Given the description of an element on the screen output the (x, y) to click on. 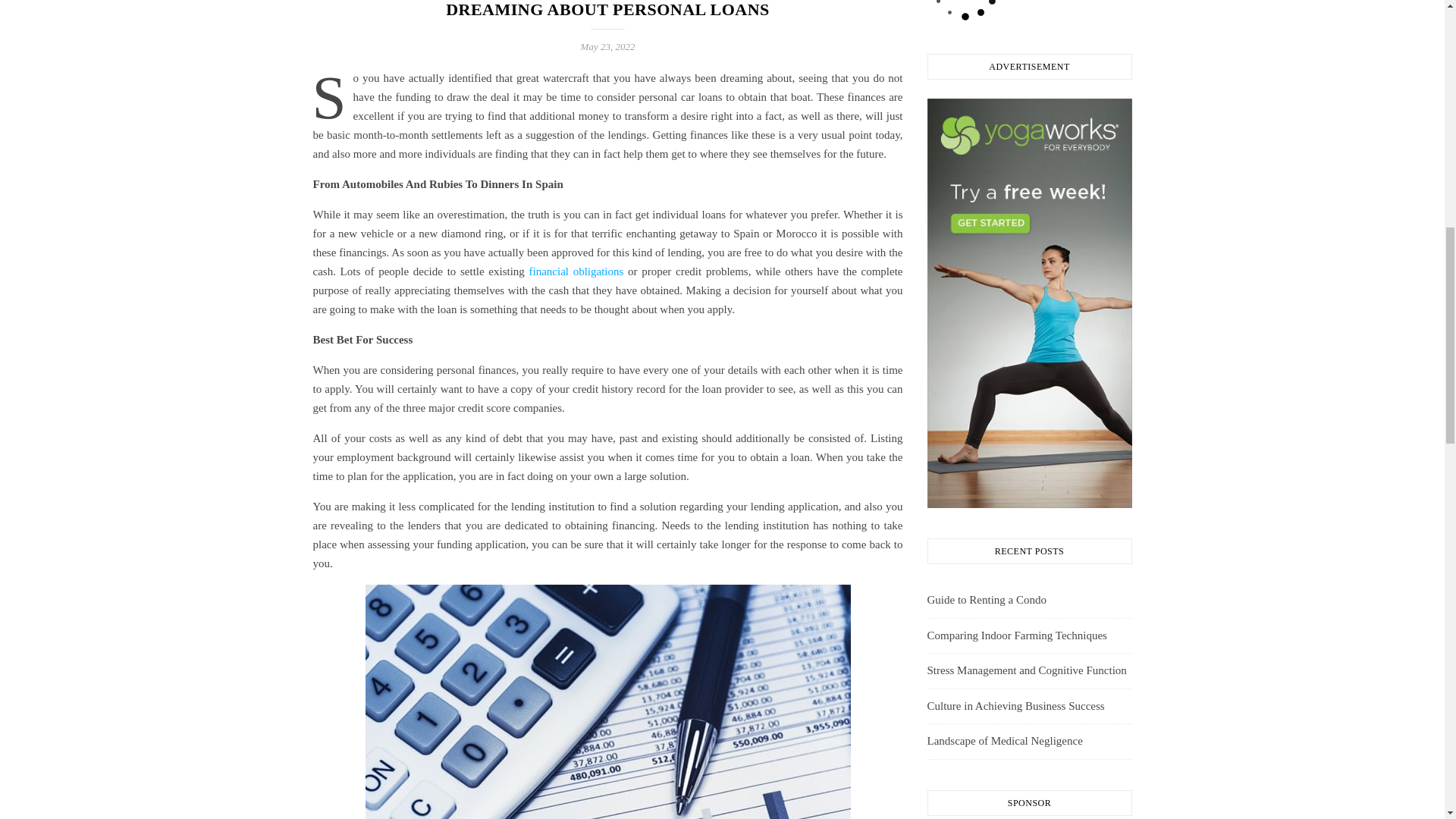
financial obligations (576, 271)
